Given the description of an element on the screen output the (x, y) to click on. 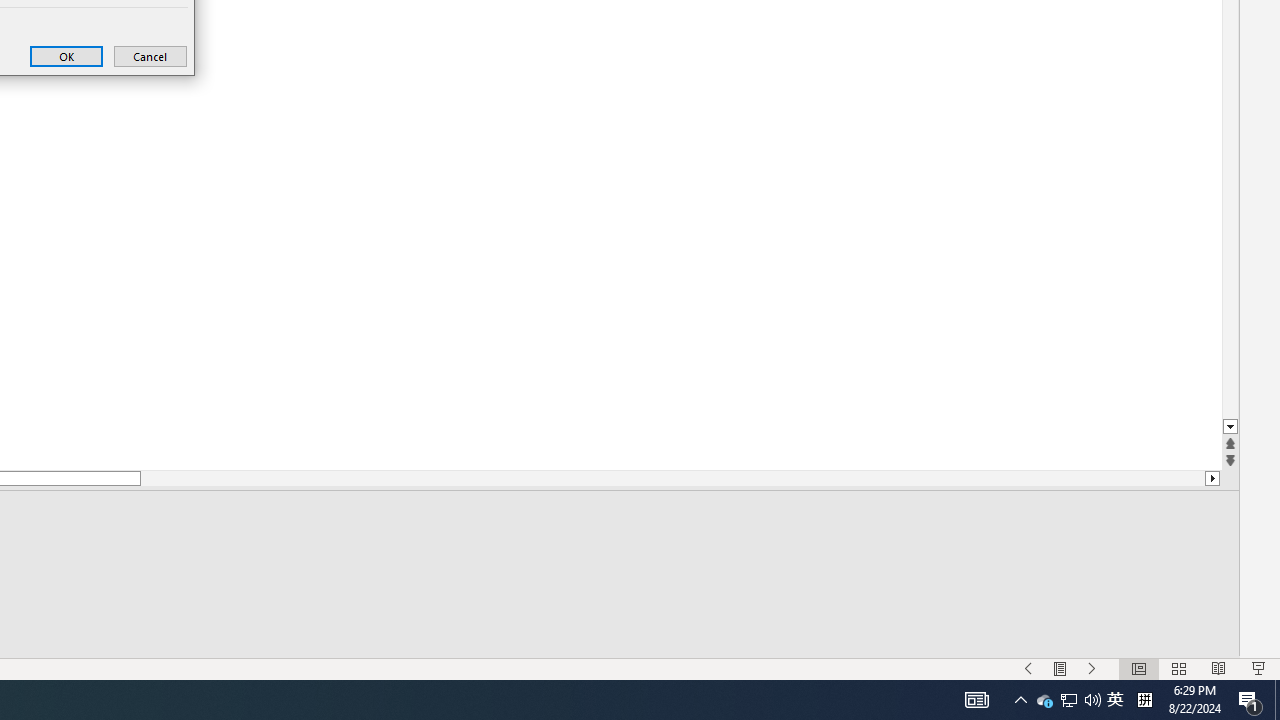
Menu On (1060, 668)
Slide Show Next On (1092, 668)
Action Center, 1 new notification (1250, 699)
Cancel (150, 55)
